Given the description of an element on the screen output the (x, y) to click on. 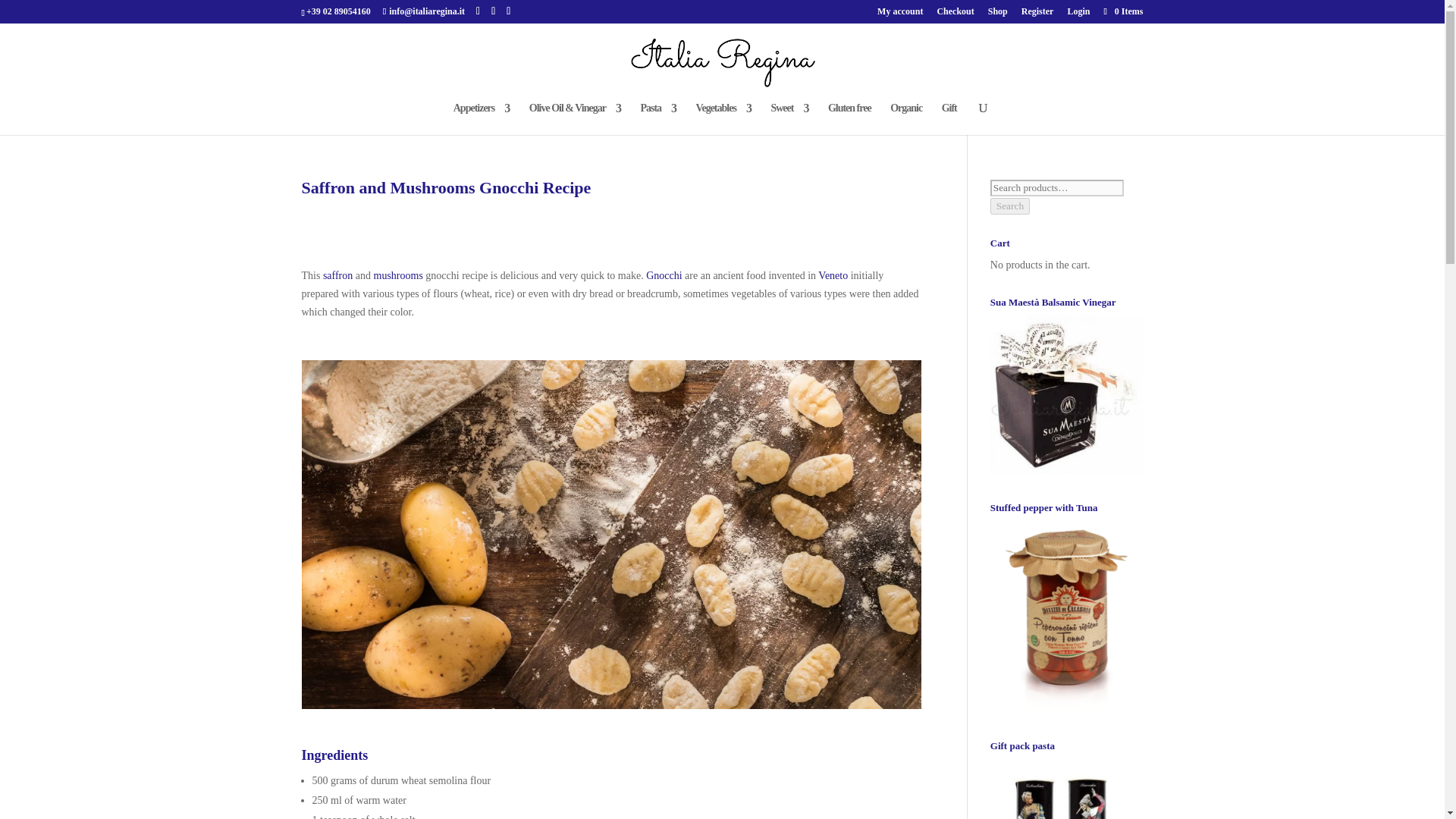
0 Items (1121, 10)
Appetizers (481, 119)
Register (1038, 14)
Checkout (955, 14)
Organic (905, 119)
Gluten free (849, 119)
Pasta (658, 119)
Vegetables (723, 119)
Shop (997, 14)
Login (1078, 14)
Sweet (789, 119)
My account (900, 14)
